Given the description of an element on the screen output the (x, y) to click on. 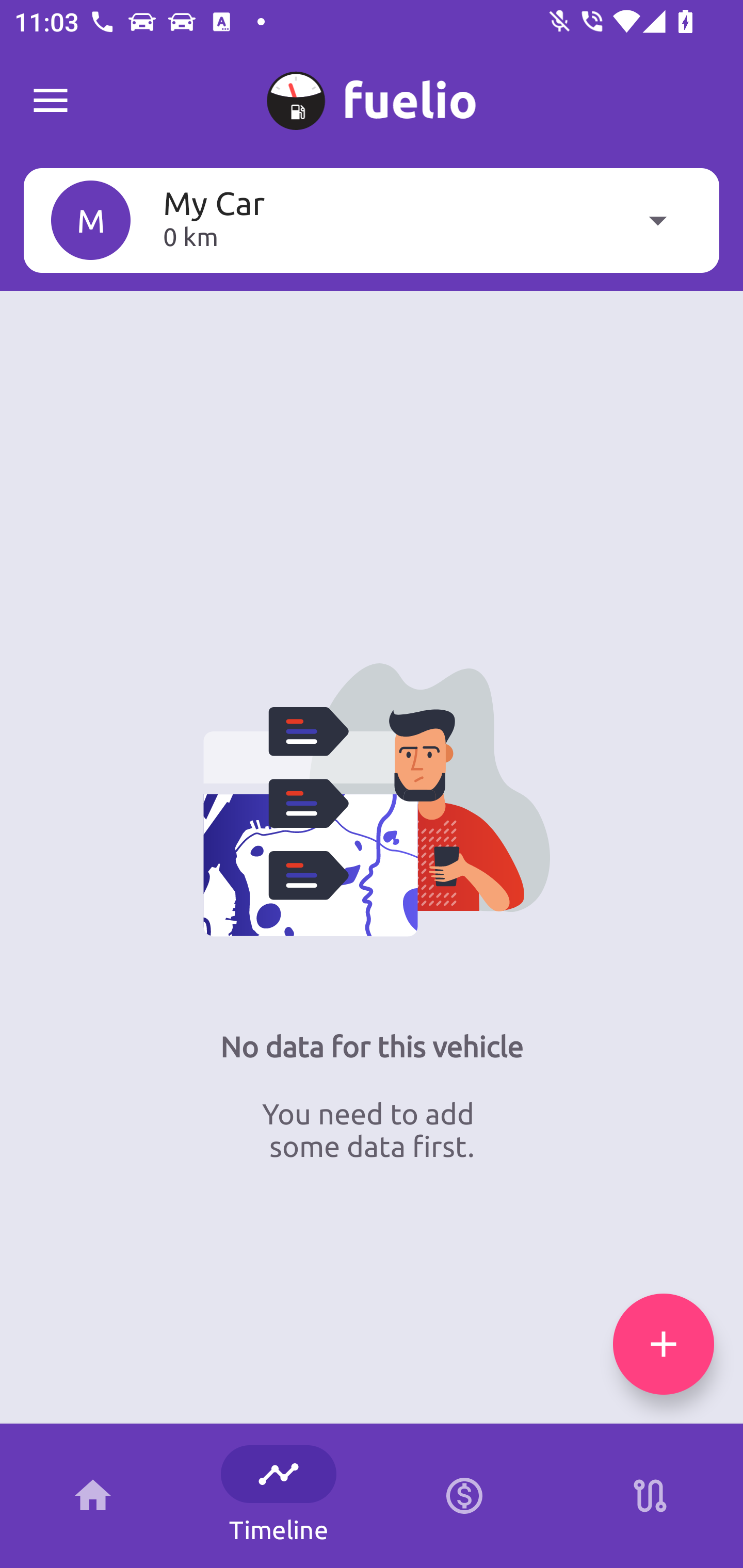
Fuelio (50, 101)
M My Car 0 km (371, 219)
Home (92, 1495)
Calculator (464, 1495)
Stations on route (650, 1495)
